Given the description of an element on the screen output the (x, y) to click on. 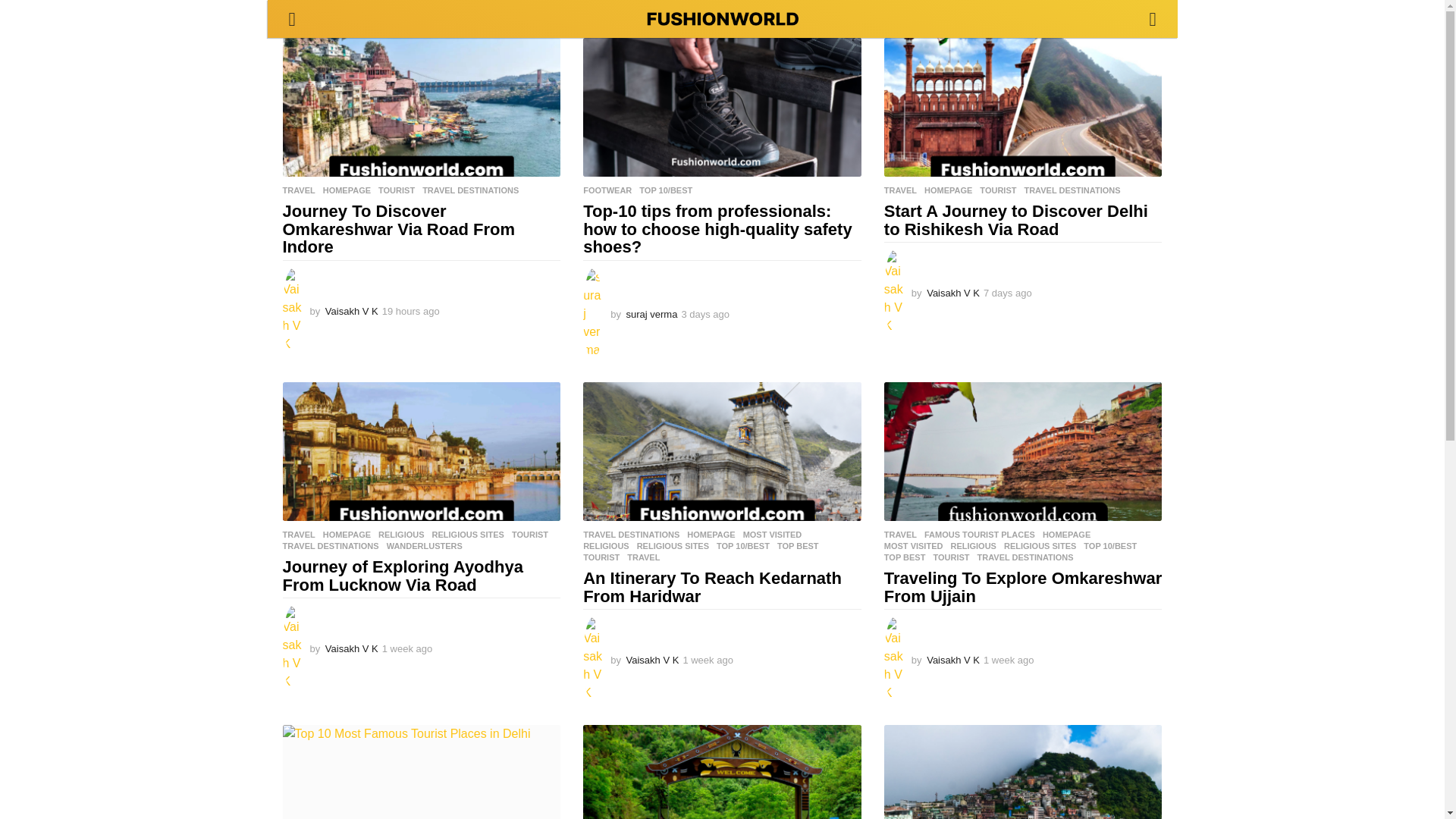
Journey To Discover Omkareshwar Via Road From Indore (421, 106)
Start A Journey to Discover Delhi to Rishikesh Via Road (1022, 106)
FOOTWEAR (607, 189)
Top 10 Most Famous Tourist Places in Delhi (421, 771)
Top10 Most Famous Tourist Destinations in Mizoram (1022, 771)
TOURIST (396, 189)
An Itinerary To Reach Kedarnath From Haridwar (722, 451)
Journey To Discover Omkareshwar Via Road From Indore (398, 228)
TRAVEL DESTINATIONS (470, 189)
Traveling To Explore Omkareshwar From Ujjain (1022, 451)
HOMEPAGE (347, 189)
suraj verma (652, 314)
